Given the description of an element on the screen output the (x, y) to click on. 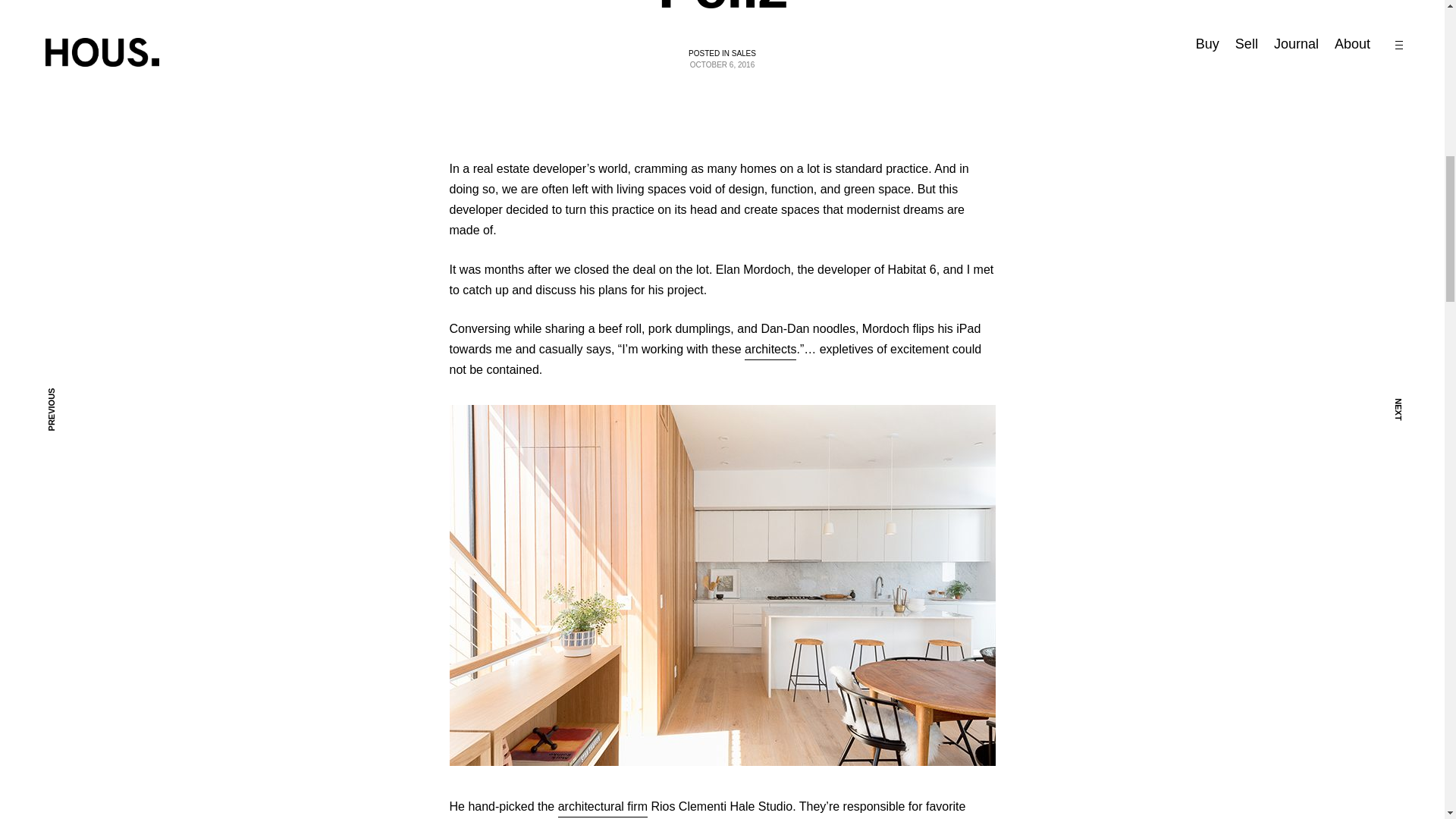
architects (770, 349)
SALES (743, 53)
Silver Lake (954, 817)
OCTOBER 6, 2016 (722, 64)
architectural firm (602, 806)
